Given the description of an element on the screen output the (x, y) to click on. 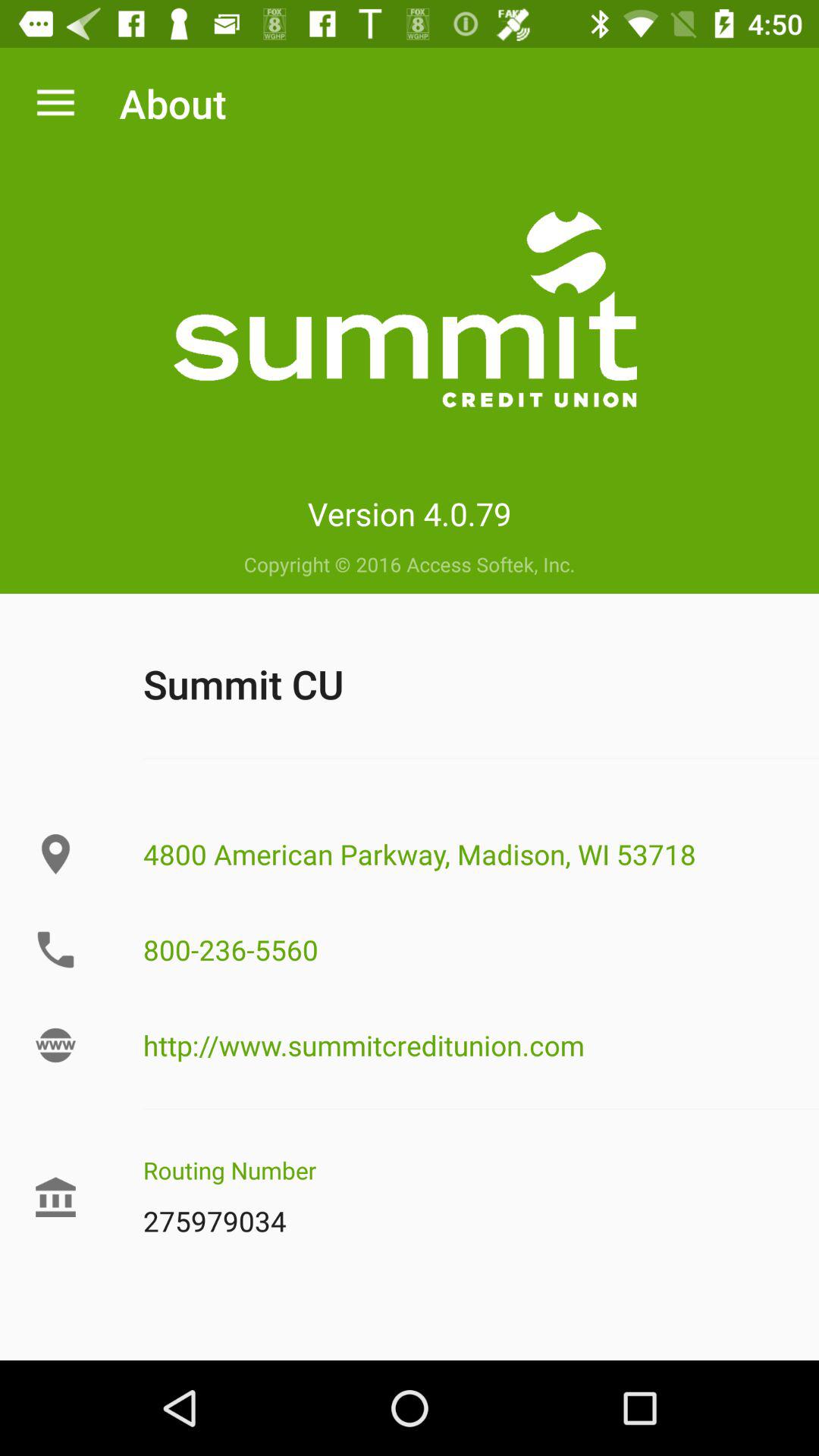
select the item below 4800 american parkway item (465, 949)
